Given the description of an element on the screen output the (x, y) to click on. 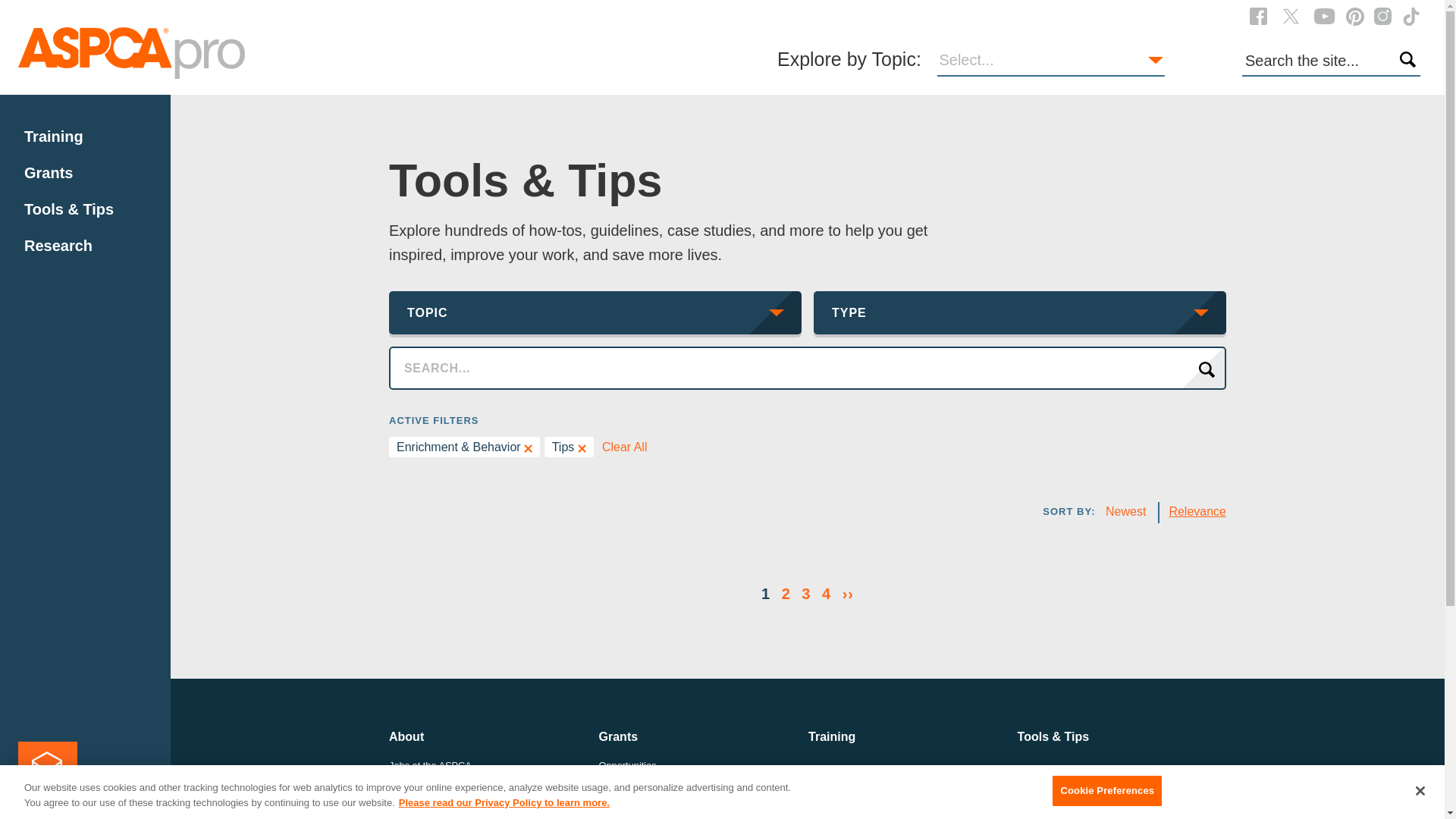
Twitter (1291, 14)
Pinterest (1354, 14)
Grants (48, 172)
Pinterest (1354, 16)
Research (58, 245)
YouTube (1324, 16)
Instagram (1382, 16)
Select... (1050, 60)
Training (53, 135)
Facebook (1257, 14)
YouTube (1324, 14)
Twitter (1291, 16)
Facebook (1257, 16)
Instagram (1382, 14)
